Given the description of an element on the screen output the (x, y) to click on. 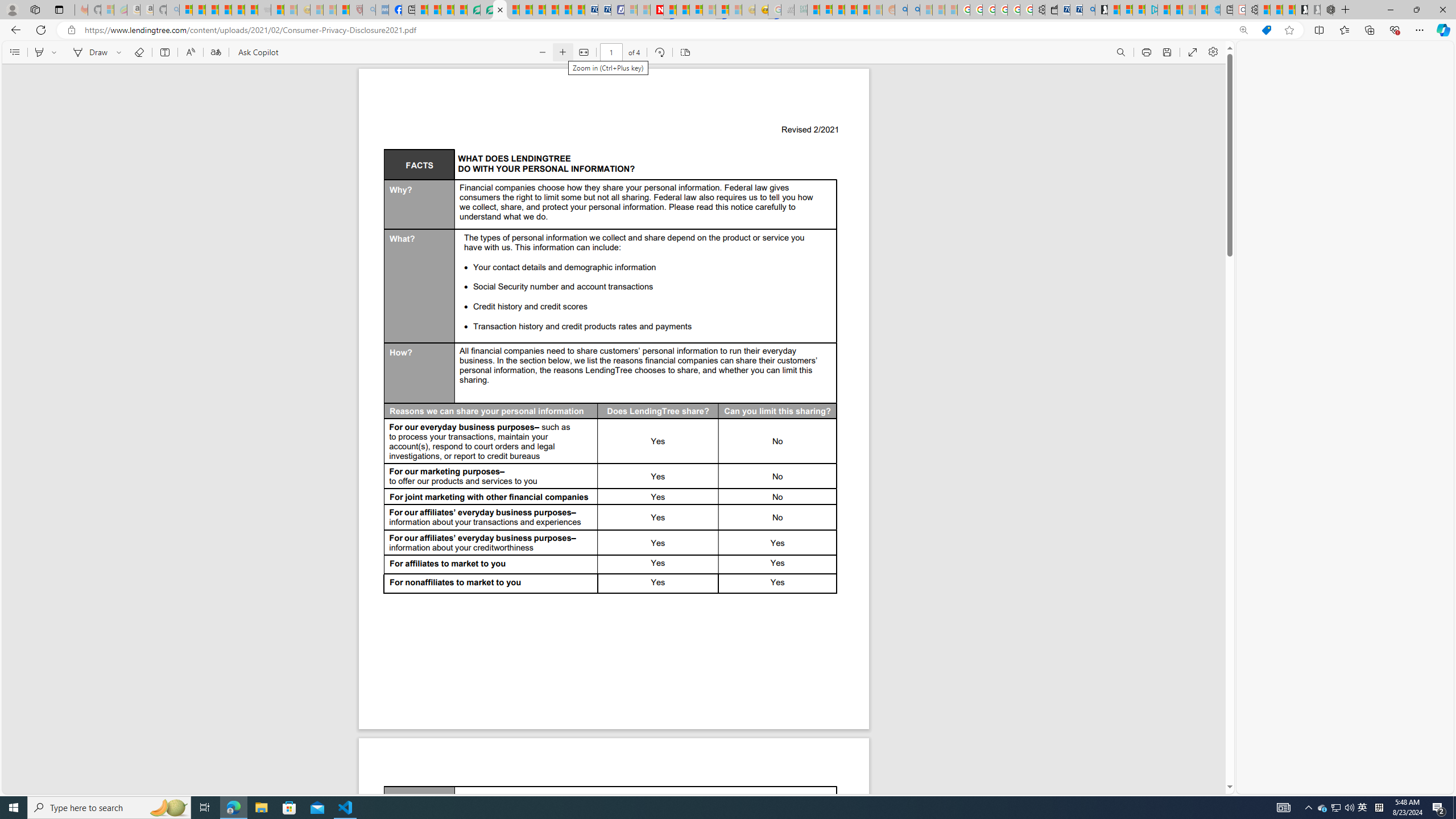
Zoom out (Ctrl+Minus key) (542, 52)
Rotate (Ctrl+]) (660, 52)
Draw (88, 52)
Save (Ctrl+S) (1166, 52)
